Given the description of an element on the screen output the (x, y) to click on. 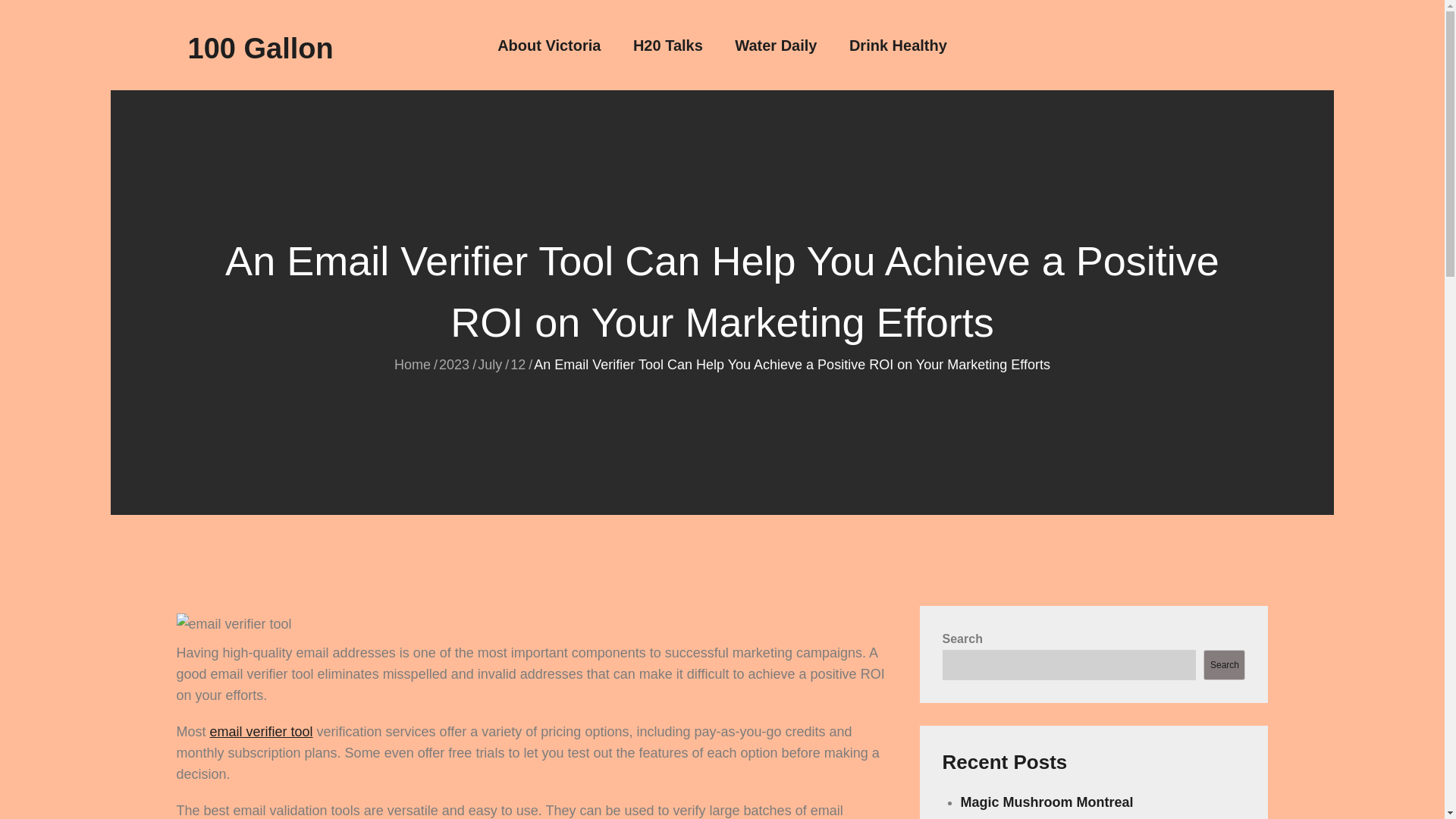
Home (412, 364)
2023 (453, 364)
About Victoria (548, 45)
email verifier tool (261, 731)
Search (1224, 665)
Magic Mushroom Montreal (1047, 801)
100 Gallon (260, 48)
12 (518, 364)
Drink Healthy (897, 45)
H20 Talks (667, 45)
July (489, 364)
Water Daily (775, 45)
